Given the description of an element on the screen output the (x, y) to click on. 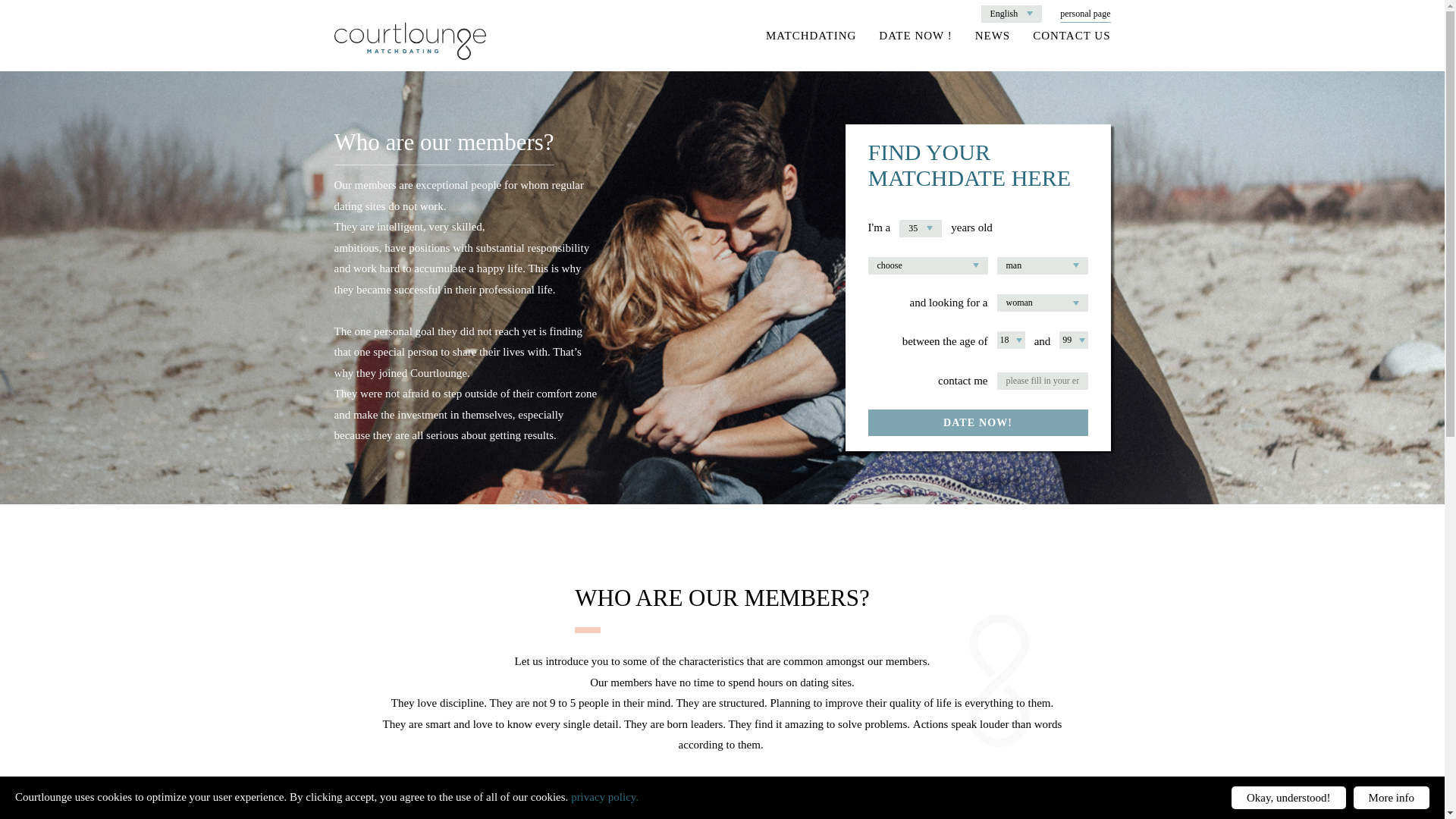
privacy policy. (604, 797)
DATE NOW ! (915, 35)
personal page (1084, 13)
DATE NOW! (977, 422)
More info (1391, 797)
MATCHDATING (810, 35)
CONTACT US (1070, 35)
Okay, understood! (1288, 797)
NEWS (992, 35)
